Given the description of an element on the screen output the (x, y) to click on. 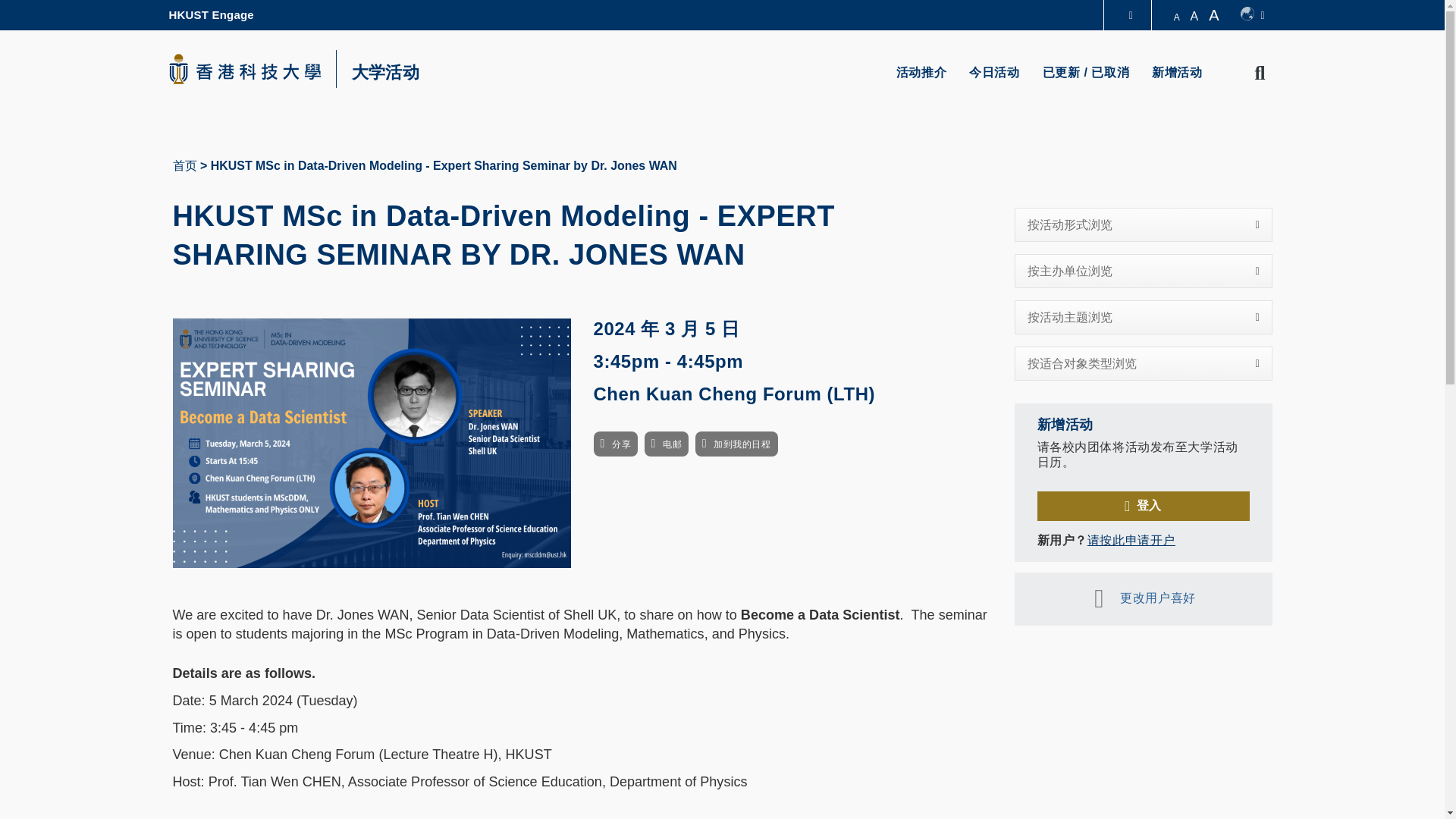
A (1176, 17)
A (1194, 15)
A (1216, 14)
HKUST Engage (210, 15)
HKUST (244, 68)
